Given the description of an element on the screen output the (x, y) to click on. 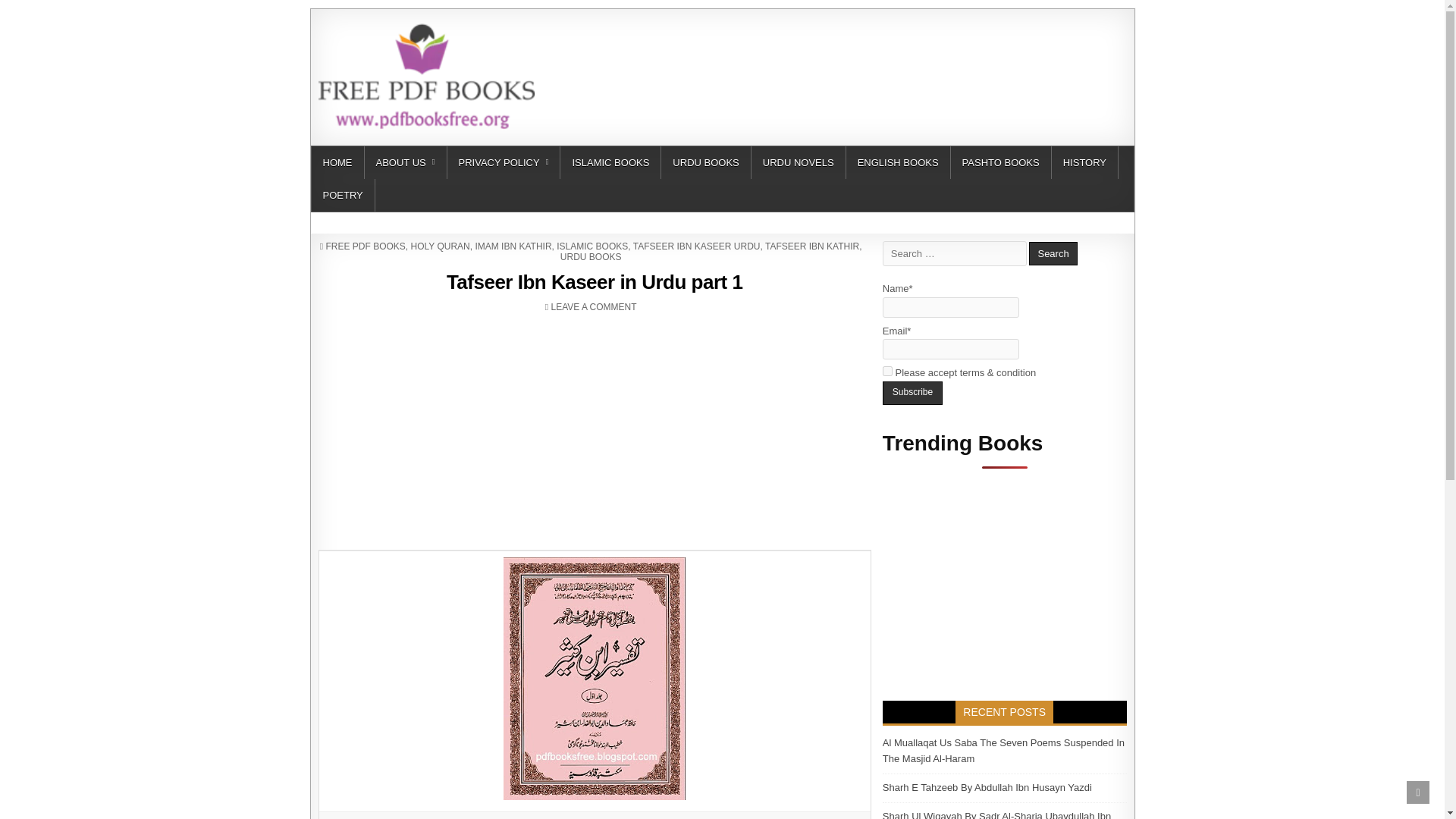
IMAM IBN KATHIR (512, 245)
Sharh Ul Wiqayah By Sadr Al-Sharia Ubaydullah Ibn Masud (996, 814)
TAFSEER IBN KATHIR (812, 245)
Subscribe (912, 392)
ISLAMIC BOOKS (610, 162)
TAFSEER IBN KASEER URDU (696, 245)
FREE PDF BOOKS (364, 245)
Search (1053, 253)
PASHTO BOOKS (1000, 162)
HOLY QURAN (440, 245)
true (887, 370)
Advertisement (849, 56)
Scroll to Top (1417, 792)
Advertisement (593, 307)
